Given the description of an element on the screen output the (x, y) to click on. 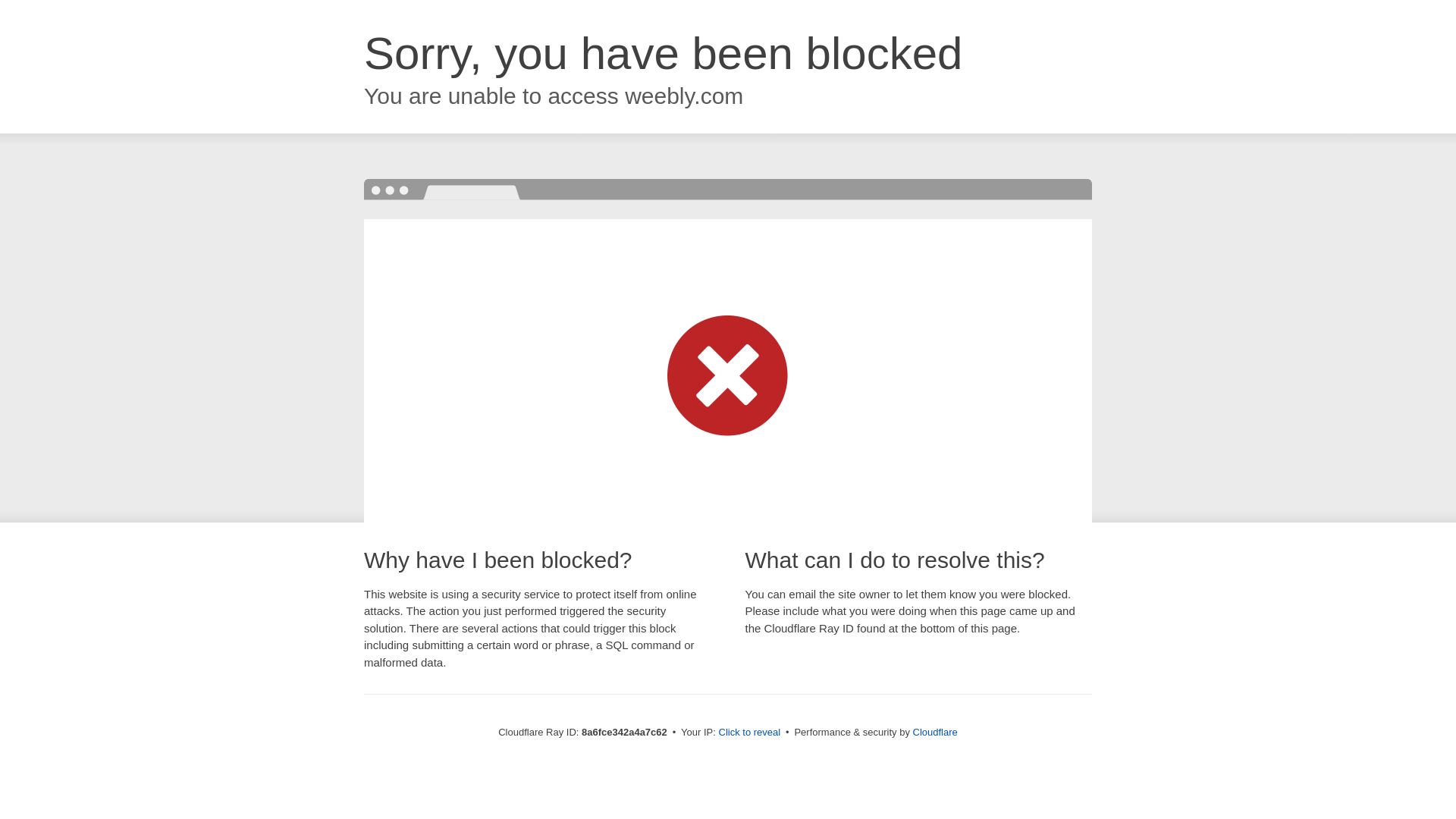
Click to reveal (749, 732)
Cloudflare (935, 731)
